Given the description of an element on the screen output the (x, y) to click on. 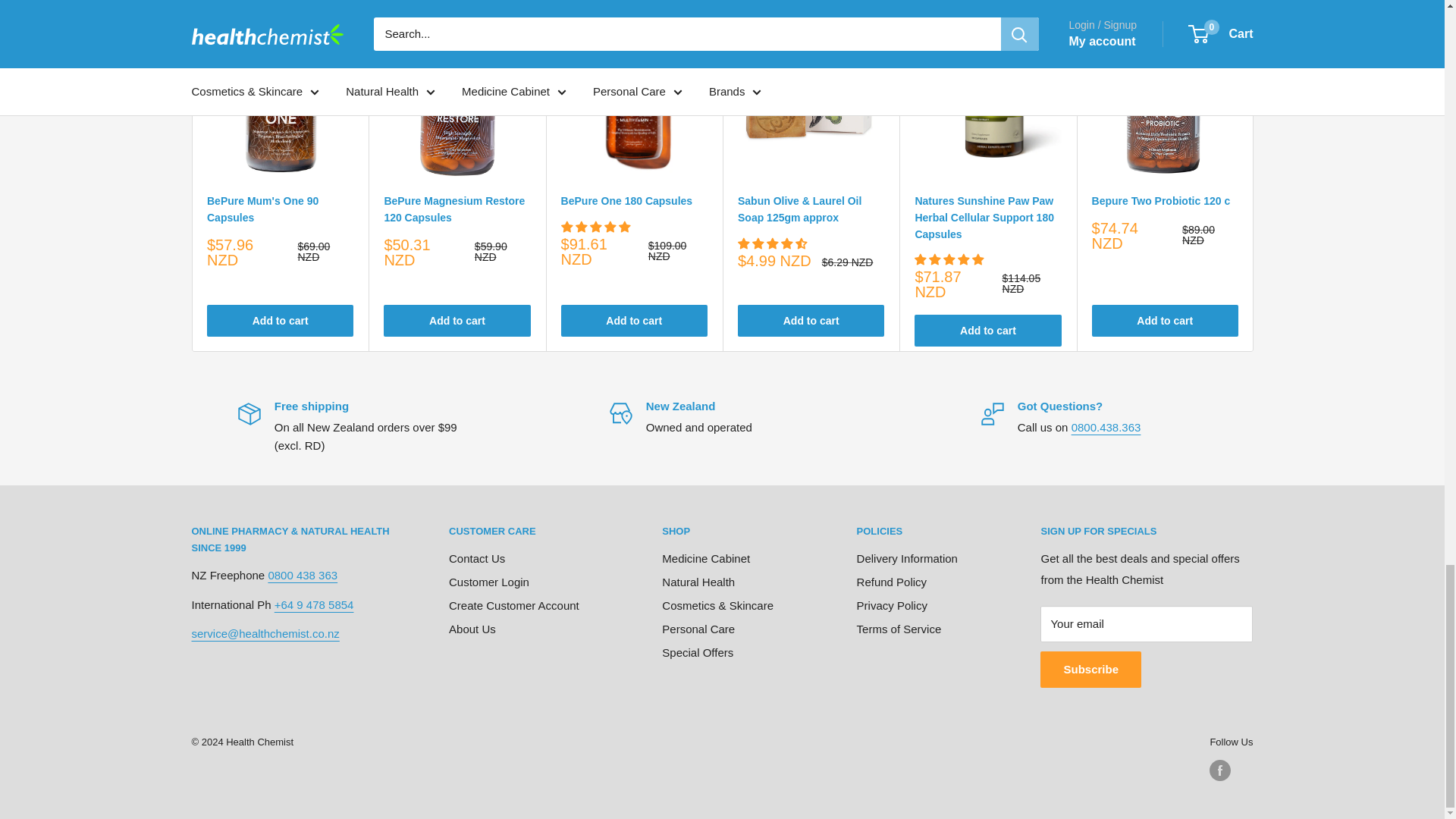
tel:0800.438.363 (1106, 427)
Email us (264, 633)
